Given the description of an element on the screen output the (x, y) to click on. 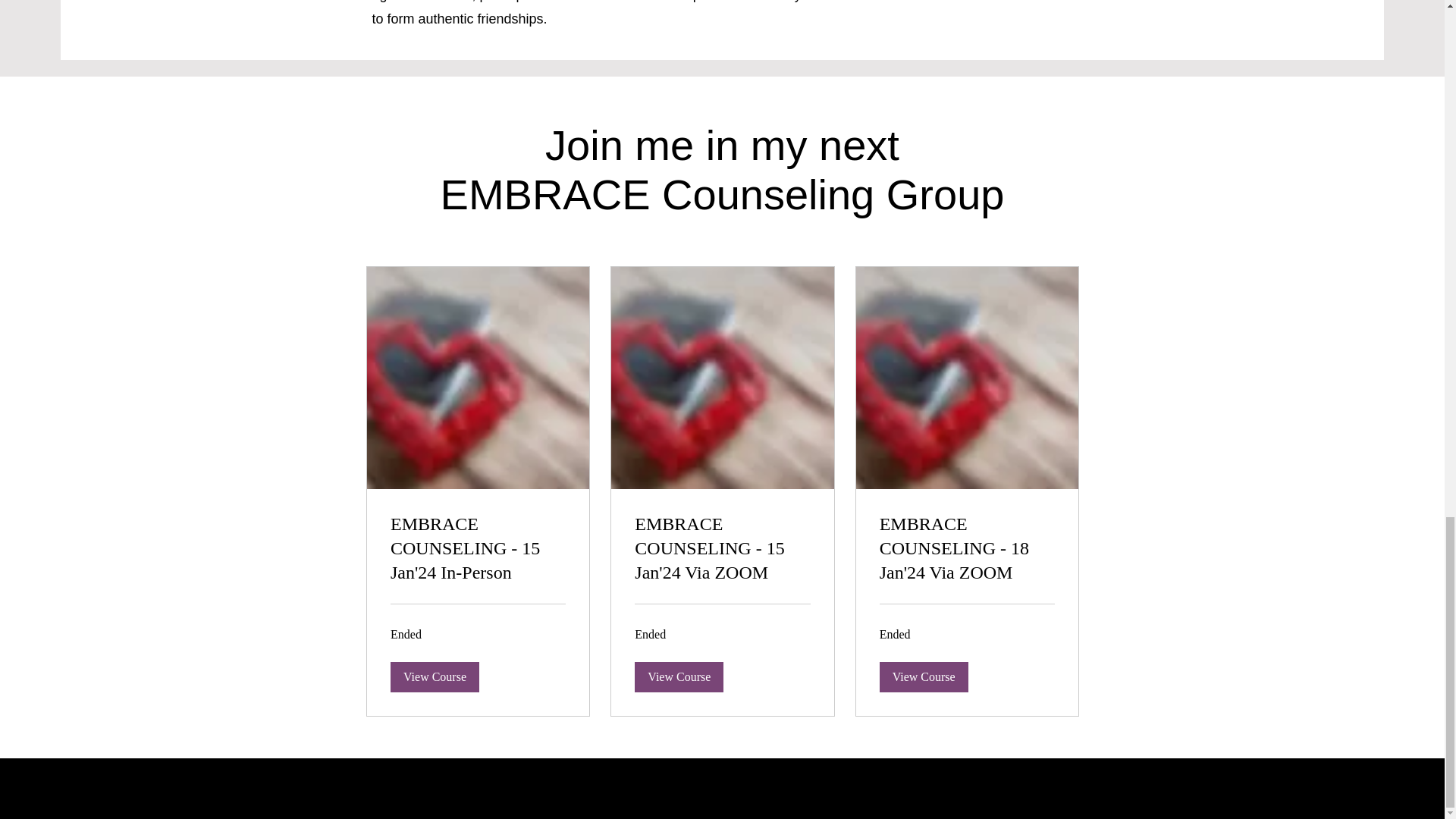
View Course (923, 676)
EMBRACE COUNSELING - 18 Jan'24 Via ZOOM (966, 548)
View Course (678, 676)
EMBRACE COUNSELING - 15 Jan'24 In-Person (477, 548)
EMBRACE COUNSELING - 15 Jan'24 Via ZOOM (721, 548)
View Course (434, 676)
